Given the description of an element on the screen output the (x, y) to click on. 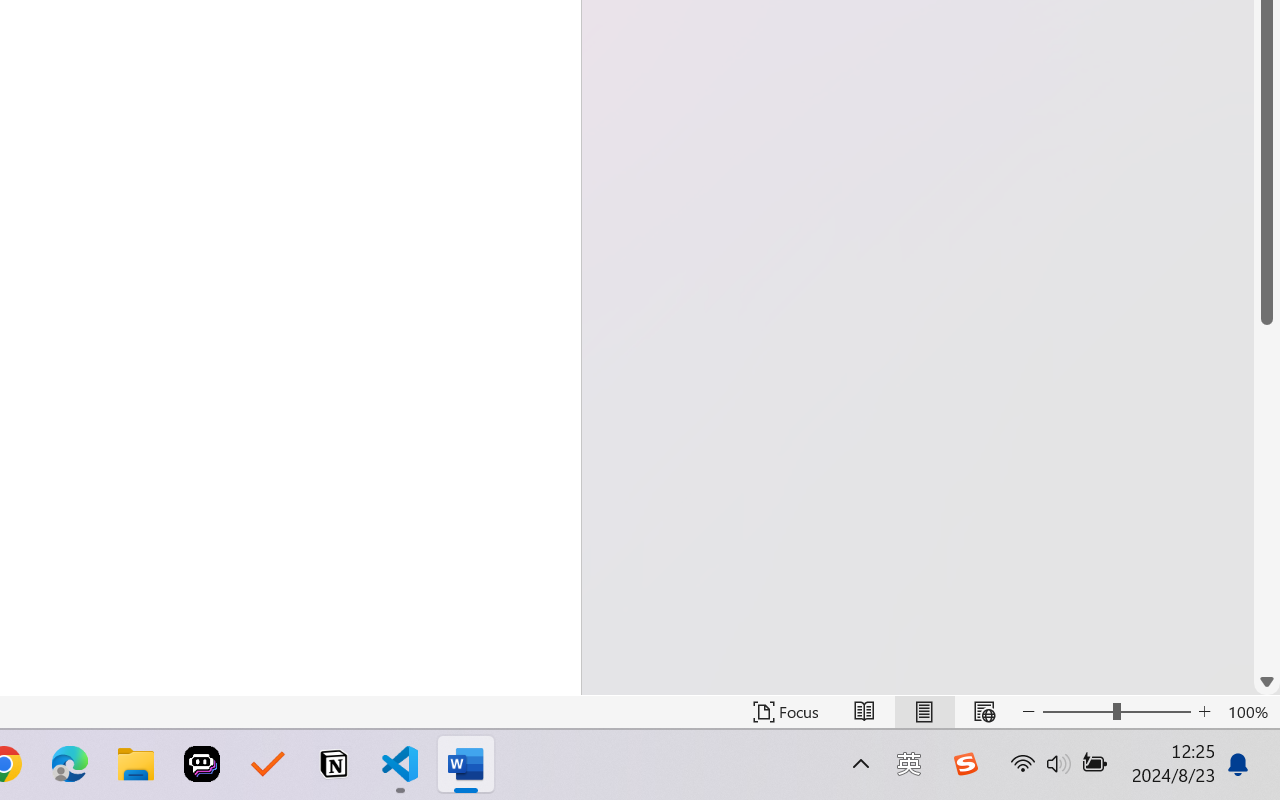
Zoom 100% (1249, 712)
Line down (1267, 681)
Page down (1267, 496)
